Given the description of an element on the screen output the (x, y) to click on. 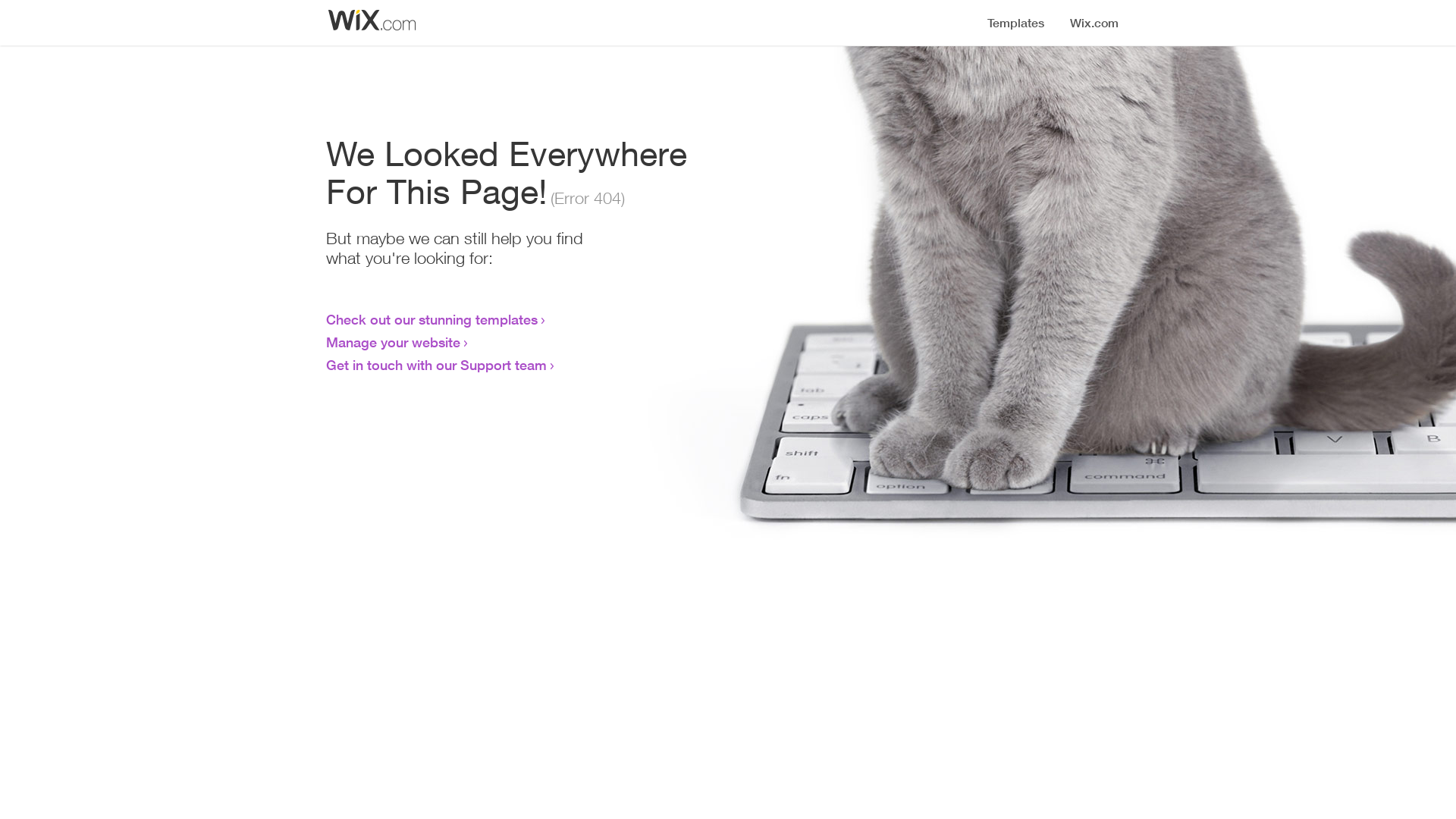
Check out our stunning templates Element type: text (431, 318)
Manage your website Element type: text (393, 341)
Get in touch with our Support team Element type: text (436, 364)
